Given the description of an element on the screen output the (x, y) to click on. 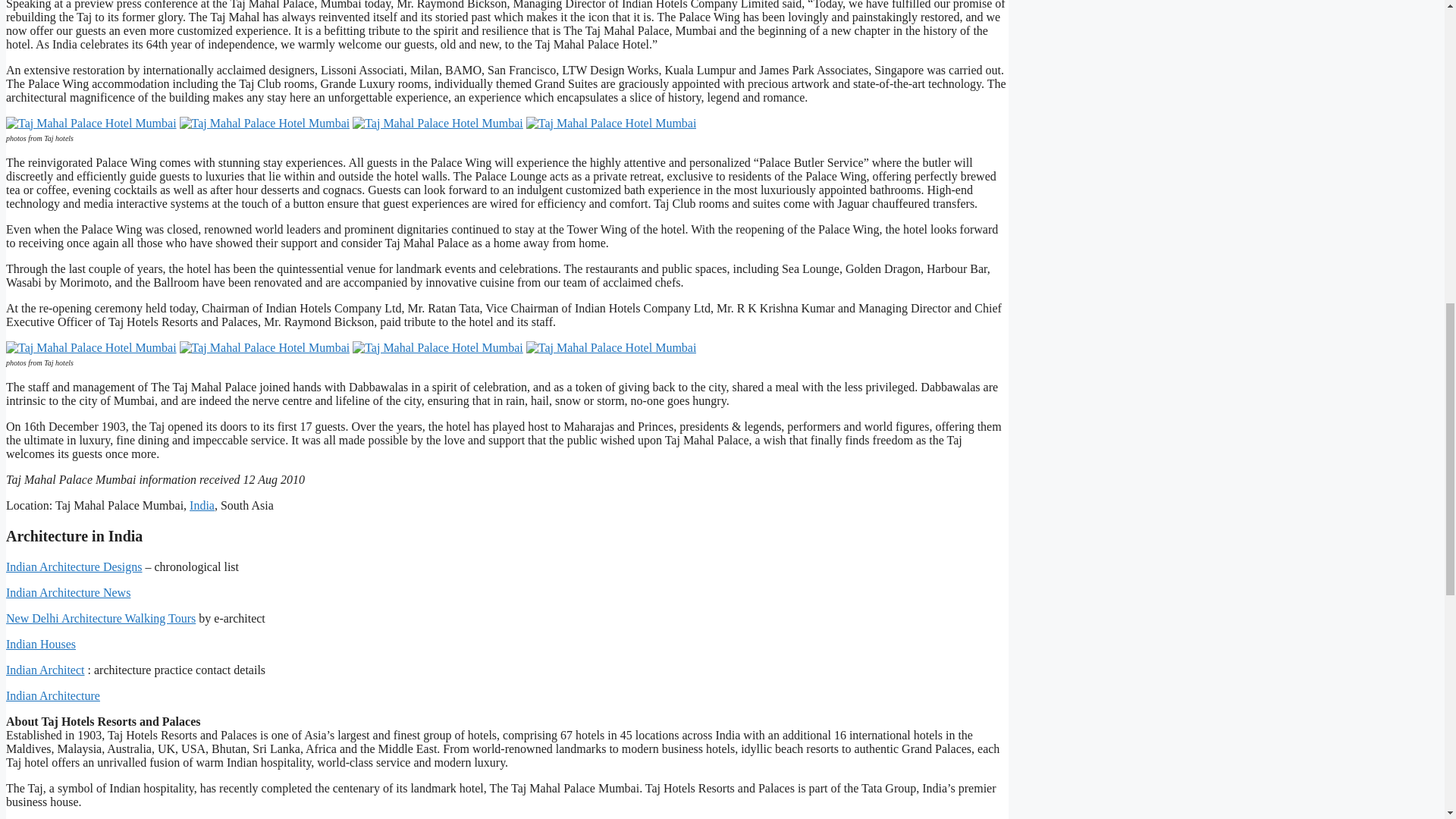
India (201, 504)
Scroll back to top (1406, 720)
